Given the description of an element on the screen output the (x, y) to click on. 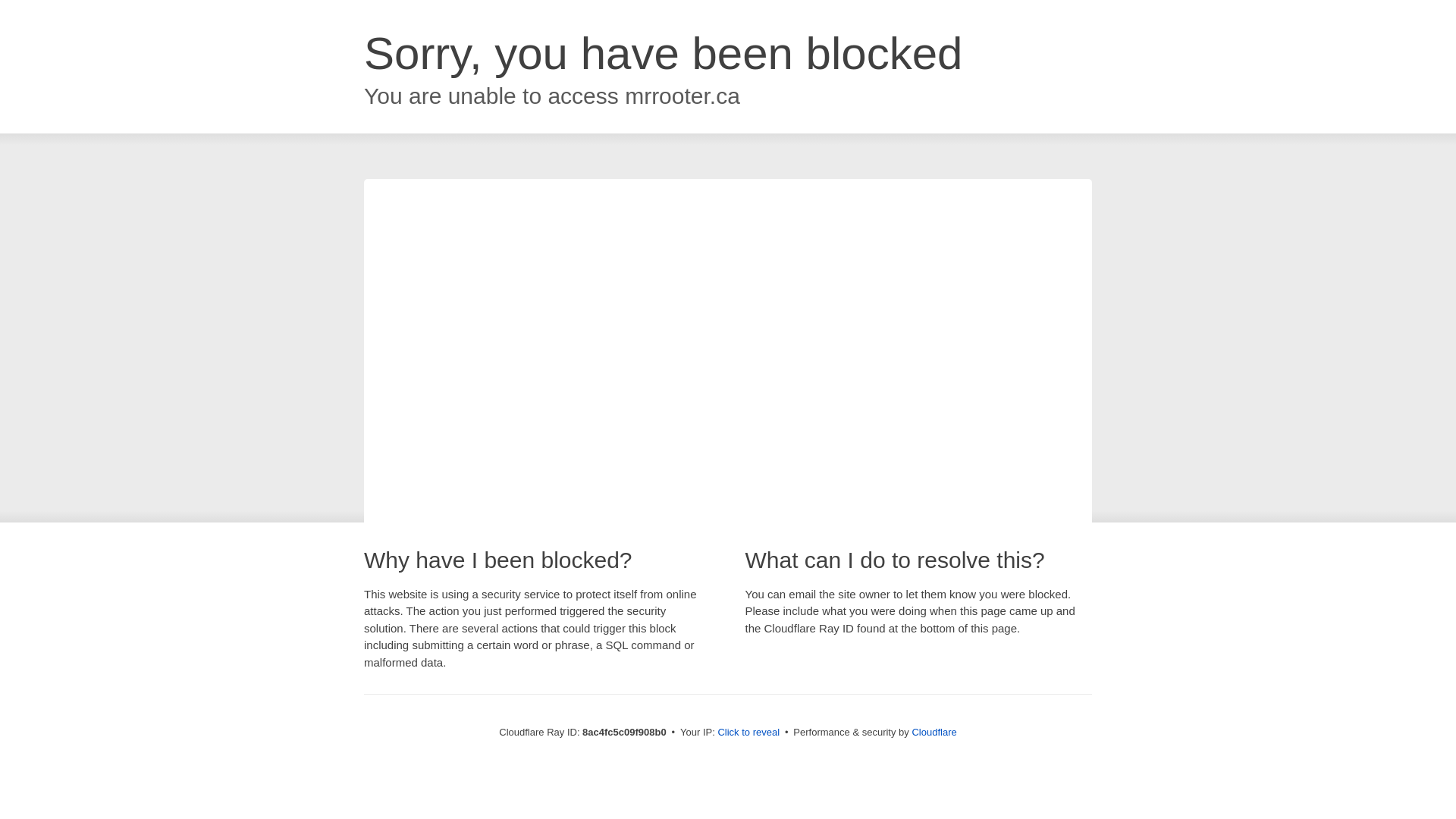
Cloudflare (933, 731)
Click to reveal (747, 732)
